Given the description of an element on the screen output the (x, y) to click on. 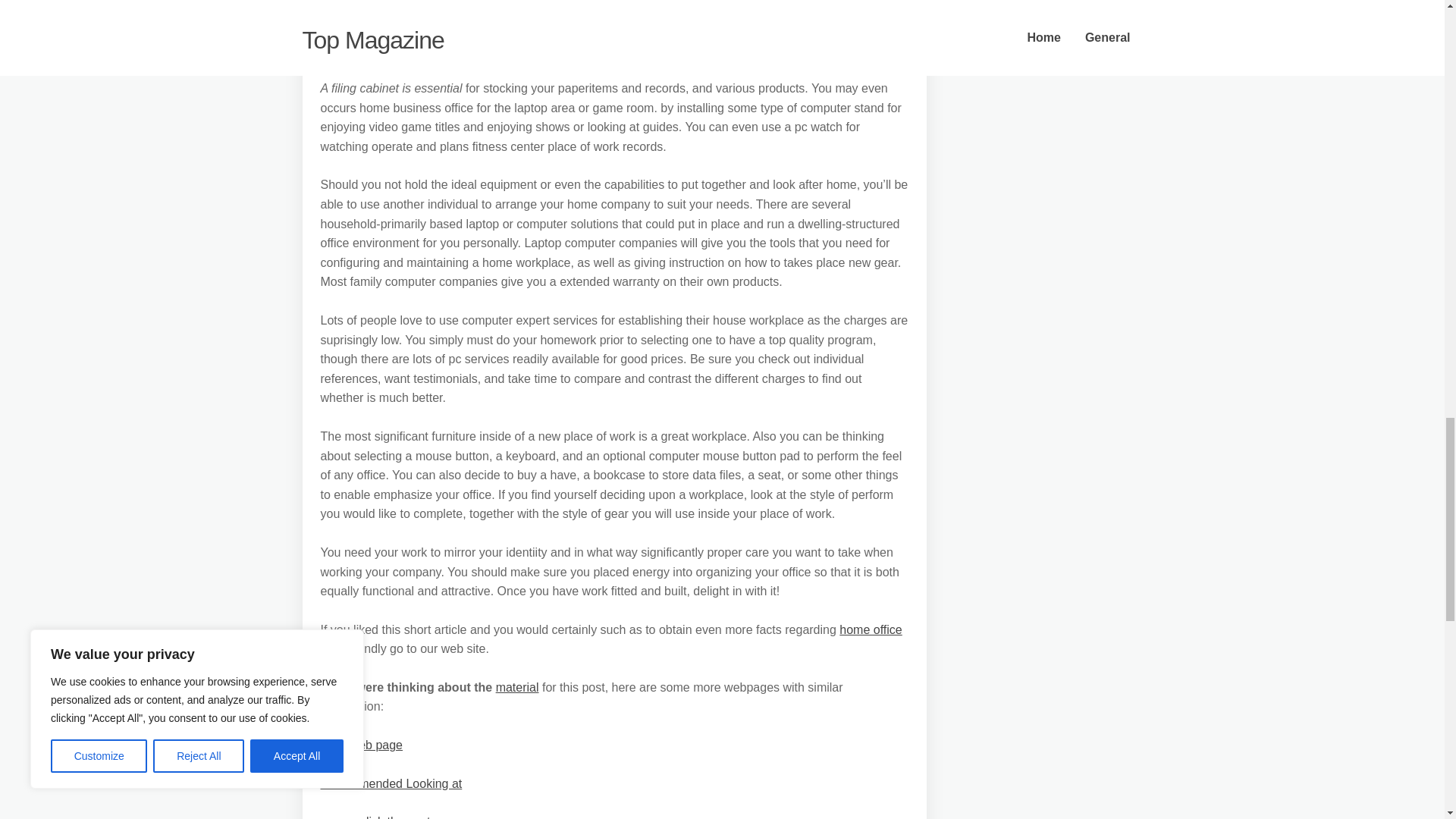
home office desks (610, 639)
mouse click the next page (390, 816)
Click web page (361, 744)
material (517, 686)
Recommended Looking at (390, 783)
